Given the description of an element on the screen output the (x, y) to click on. 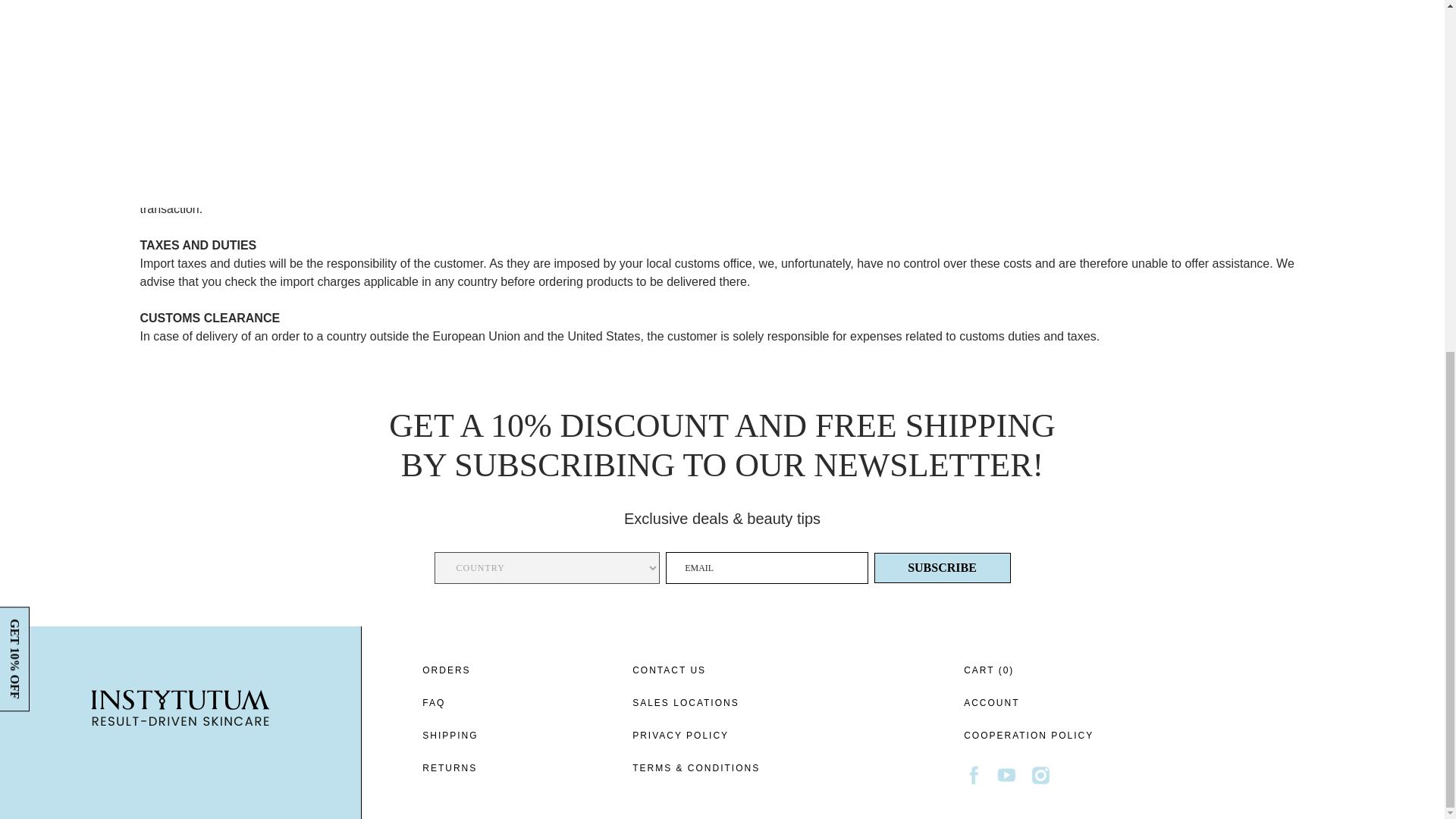
SUBSCRIBE (941, 567)
